Given the description of an element on the screen output the (x, y) to click on. 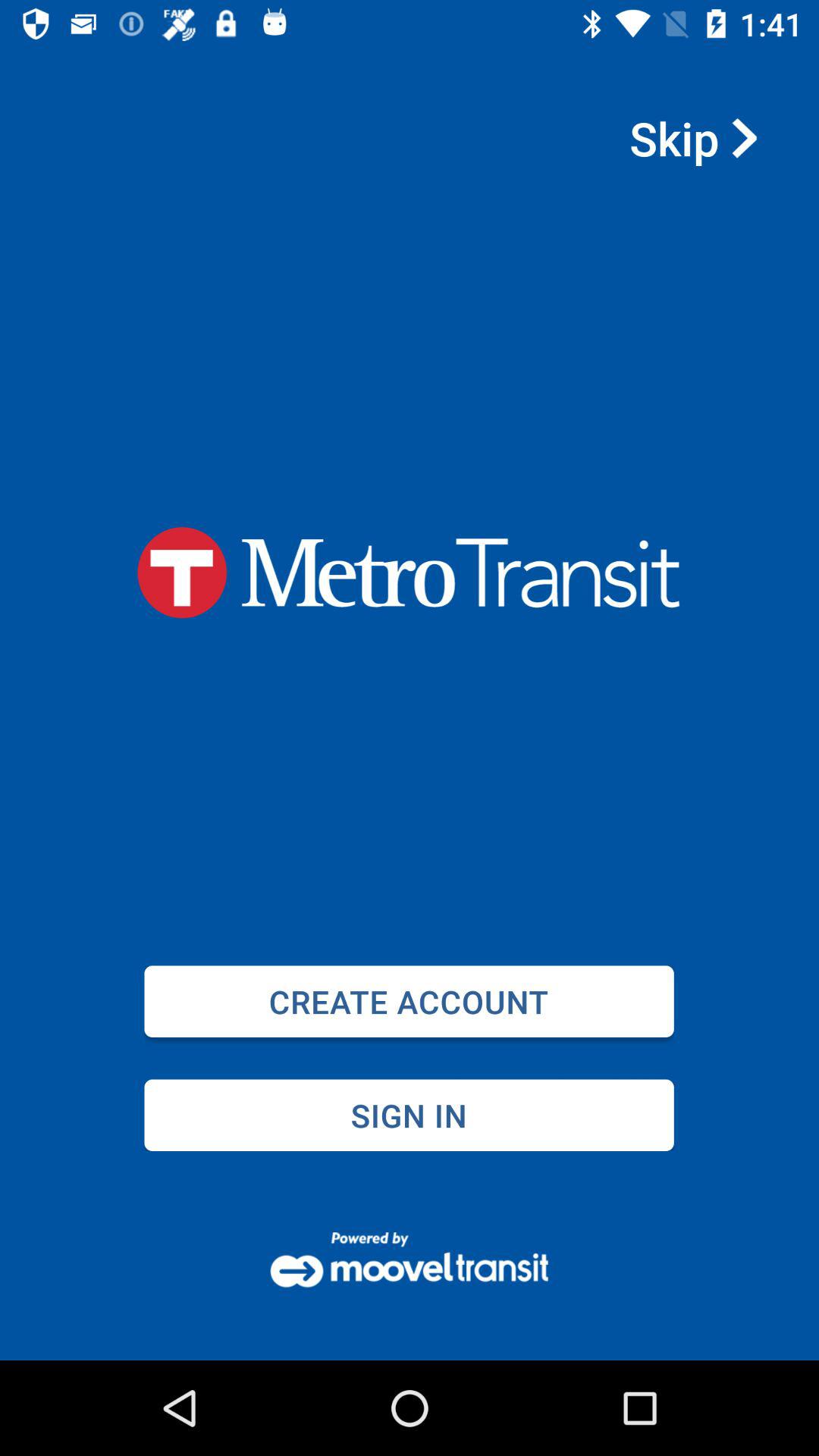
press item below the create account item (408, 1115)
